Given the description of an element on the screen output the (x, y) to click on. 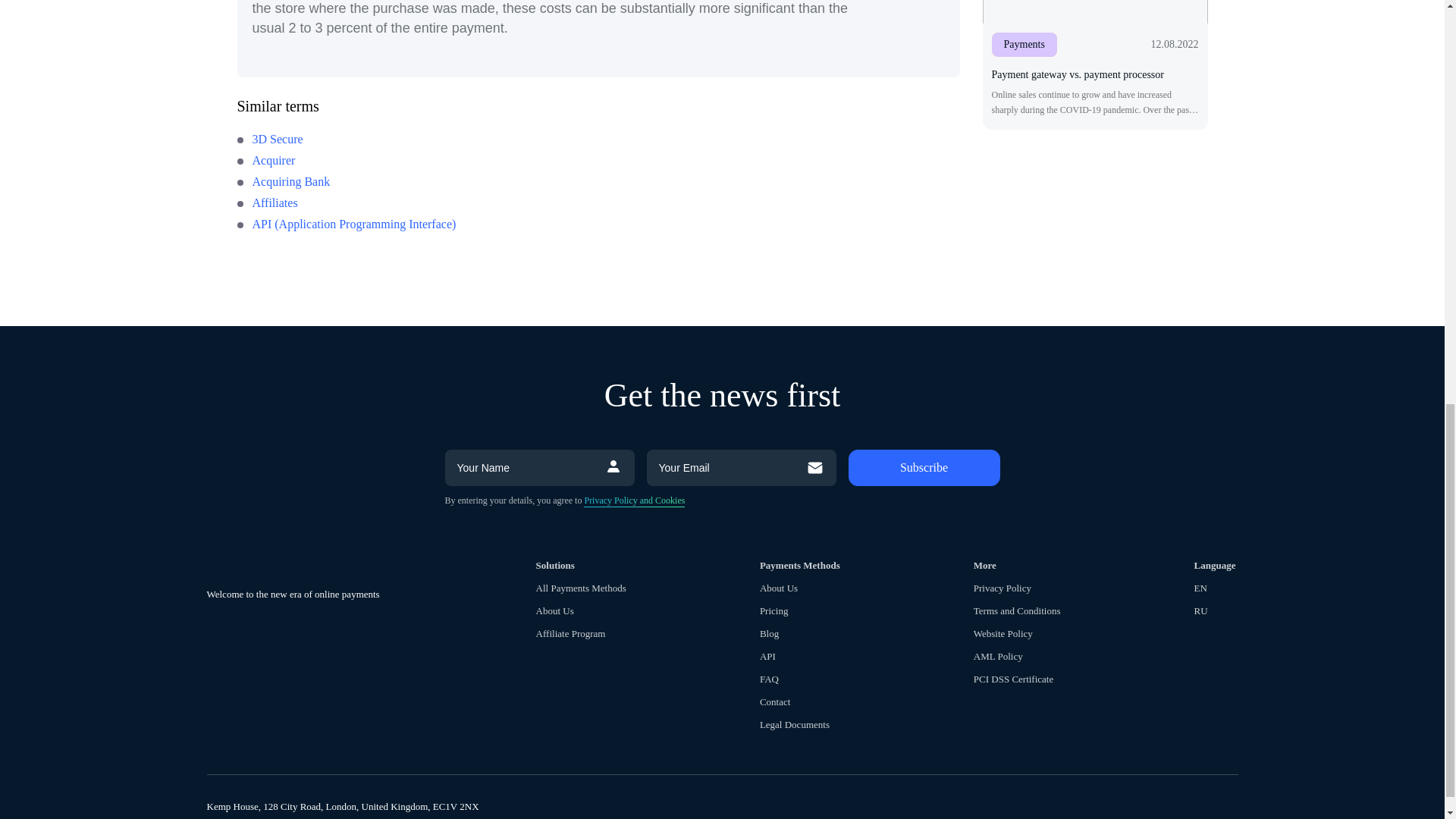
Payments (1024, 44)
Acquirer (265, 160)
3D Secure (268, 138)
Subscribe (922, 467)
Affiliates (266, 202)
Privacy Policy and Cookies (633, 500)
Acquiring Bank (282, 181)
